Given the description of an element on the screen output the (x, y) to click on. 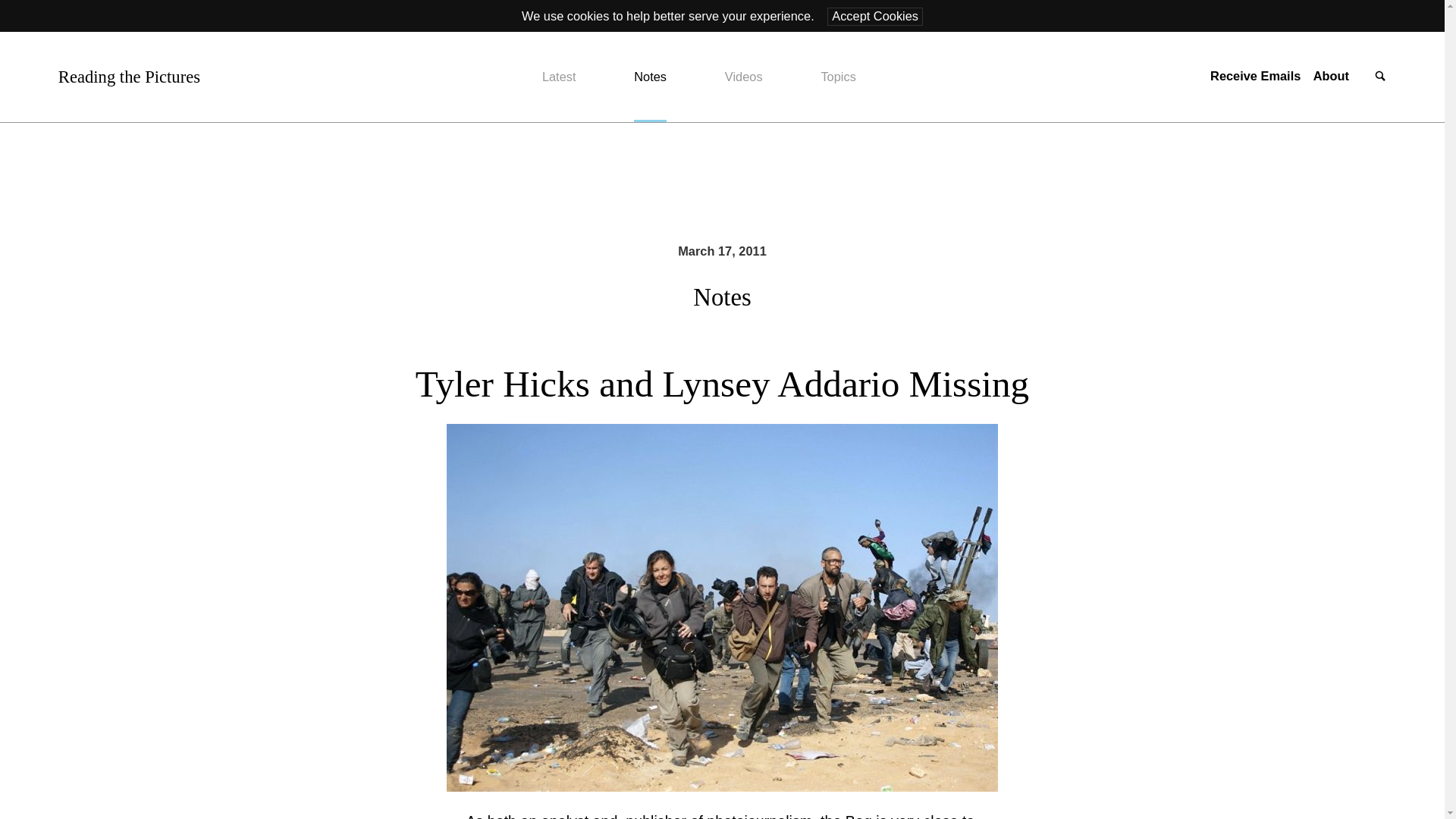
search (1380, 78)
Newsletter Signup (1254, 75)
About (1331, 75)
Accept Cookies (875, 16)
Receive Emails (1254, 75)
About (1331, 75)
Reading the Pictures (129, 76)
Reading the Pictures (129, 76)
